Given the description of an element on the screen output the (x, y) to click on. 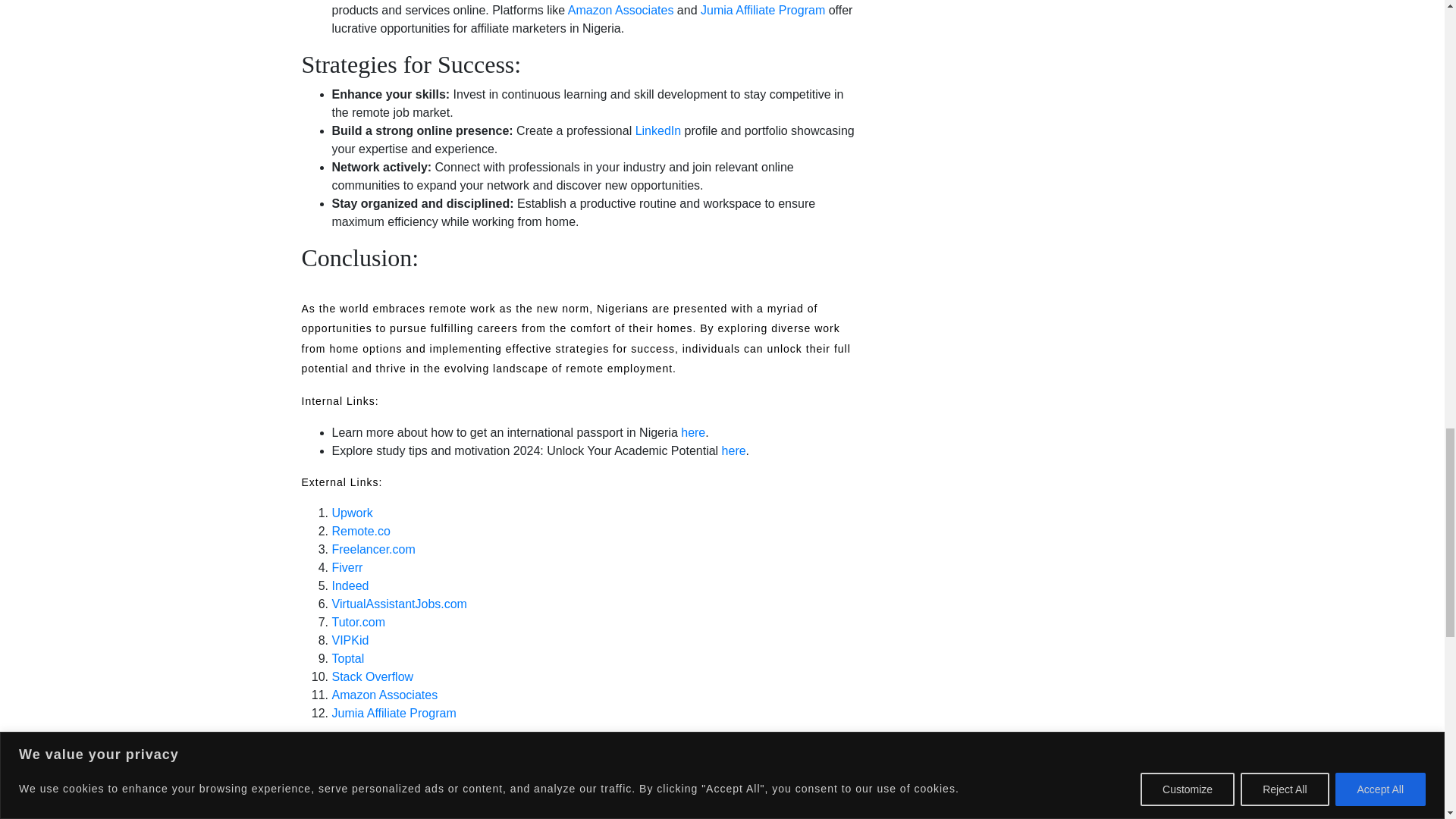
LinkedIn (657, 130)
Amazon Associates (620, 10)
Jumia Affiliate Program (764, 10)
